Given the description of an element on the screen output the (x, y) to click on. 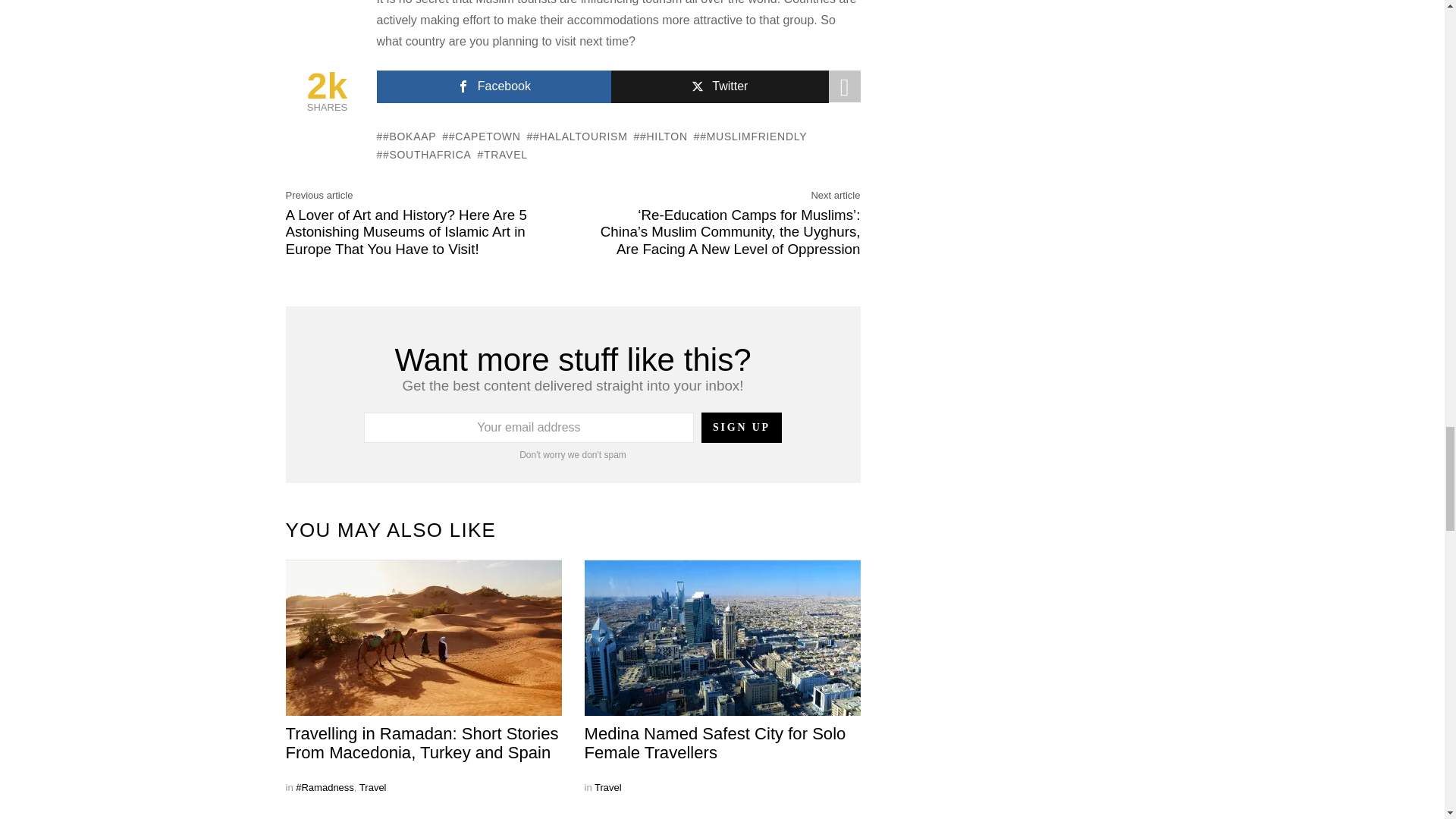
Facebook (493, 86)
Twitter (719, 86)
Sign up (741, 427)
